Given the description of an element on the screen output the (x, y) to click on. 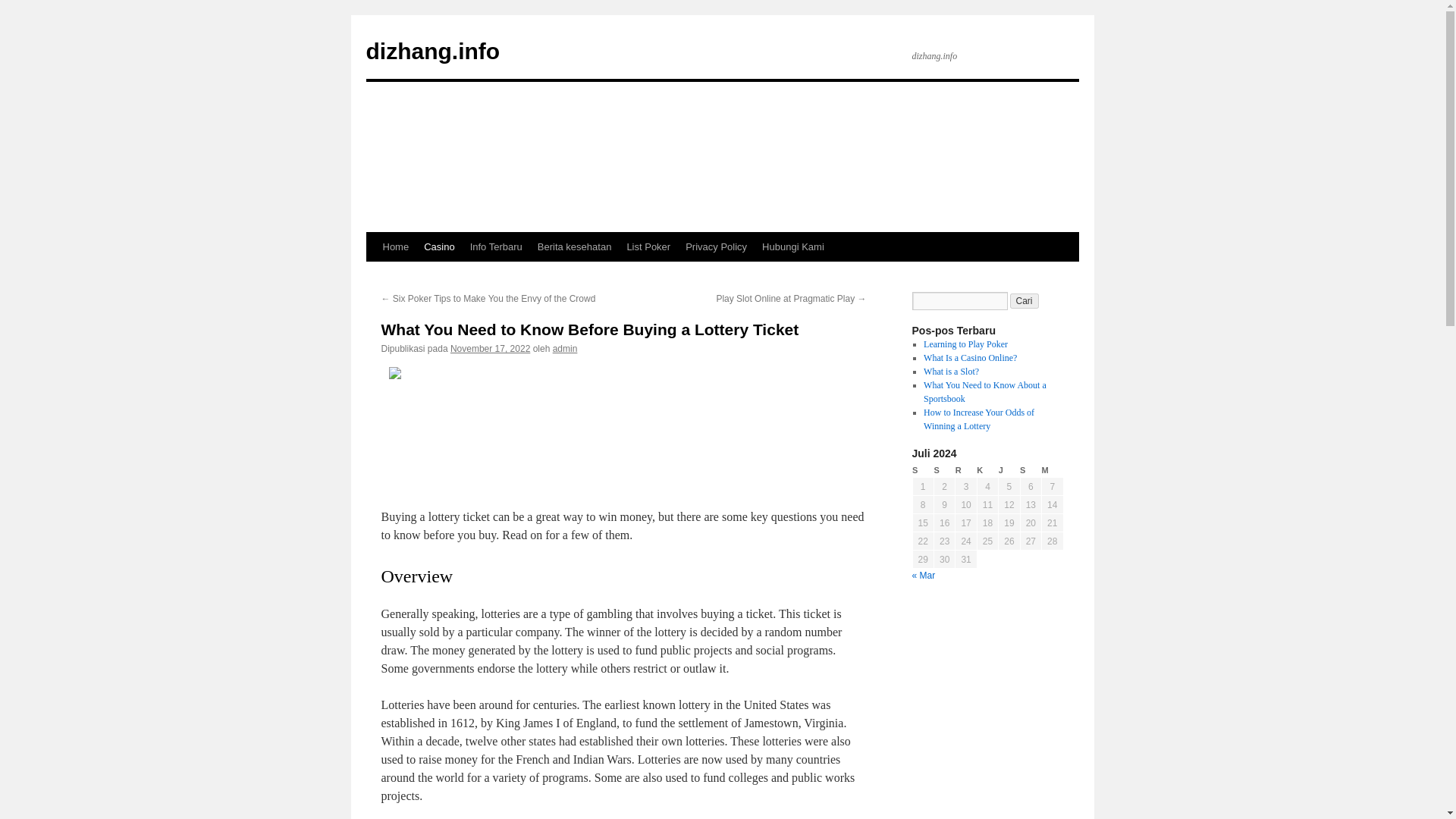
List Poker (648, 246)
Senin (922, 470)
11:59 pm (489, 348)
What is a Slot? (950, 371)
Privacy Policy (716, 246)
Home (395, 246)
Lihat semua tulisan oleh admin (565, 348)
Info Terbaru (496, 246)
Cari (1024, 300)
Jumat (1009, 470)
Rabu (965, 470)
November 17, 2022 (489, 348)
admin (565, 348)
How to Increase Your Odds of Winning a Lottery (978, 419)
What You Need to Know About a Sportsbook (984, 392)
